Given the description of an element on the screen output the (x, y) to click on. 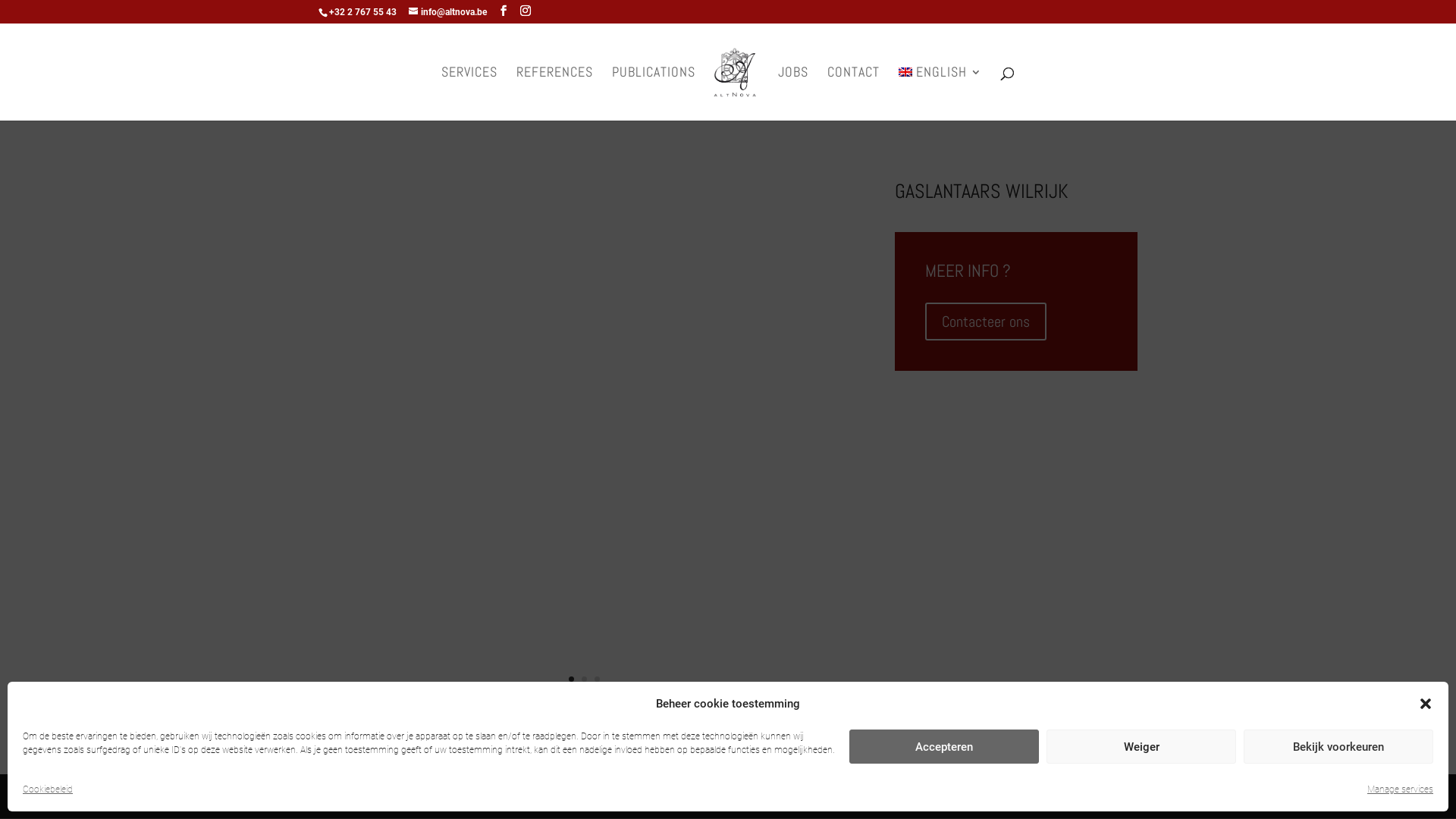
REFERENCES Element type: text (554, 93)
Made by Thomas Peeters Element type: text (660, 796)
PUBLICATIONS Element type: text (653, 93)
Contacteer ons Element type: text (985, 321)
2 Element type: text (583, 678)
Manage services Element type: text (1400, 789)
info@altnova.be Element type: text (447, 11)
3 Element type: text (596, 678)
Bekijk voorkeuren Element type: text (1338, 746)
Accepteren Element type: text (943, 746)
JOBS Element type: text (793, 93)
Cookiebeleid Element type: text (47, 789)
wilrijk foto vierkant Element type: hover (583, 712)
ENGLISH Element type: text (940, 93)
CONTACT Element type: text (853, 93)
1 Element type: text (571, 678)
Weiger Element type: text (1141, 746)
SERVICES Element type: text (469, 93)
